Given the description of an element on the screen output the (x, y) to click on. 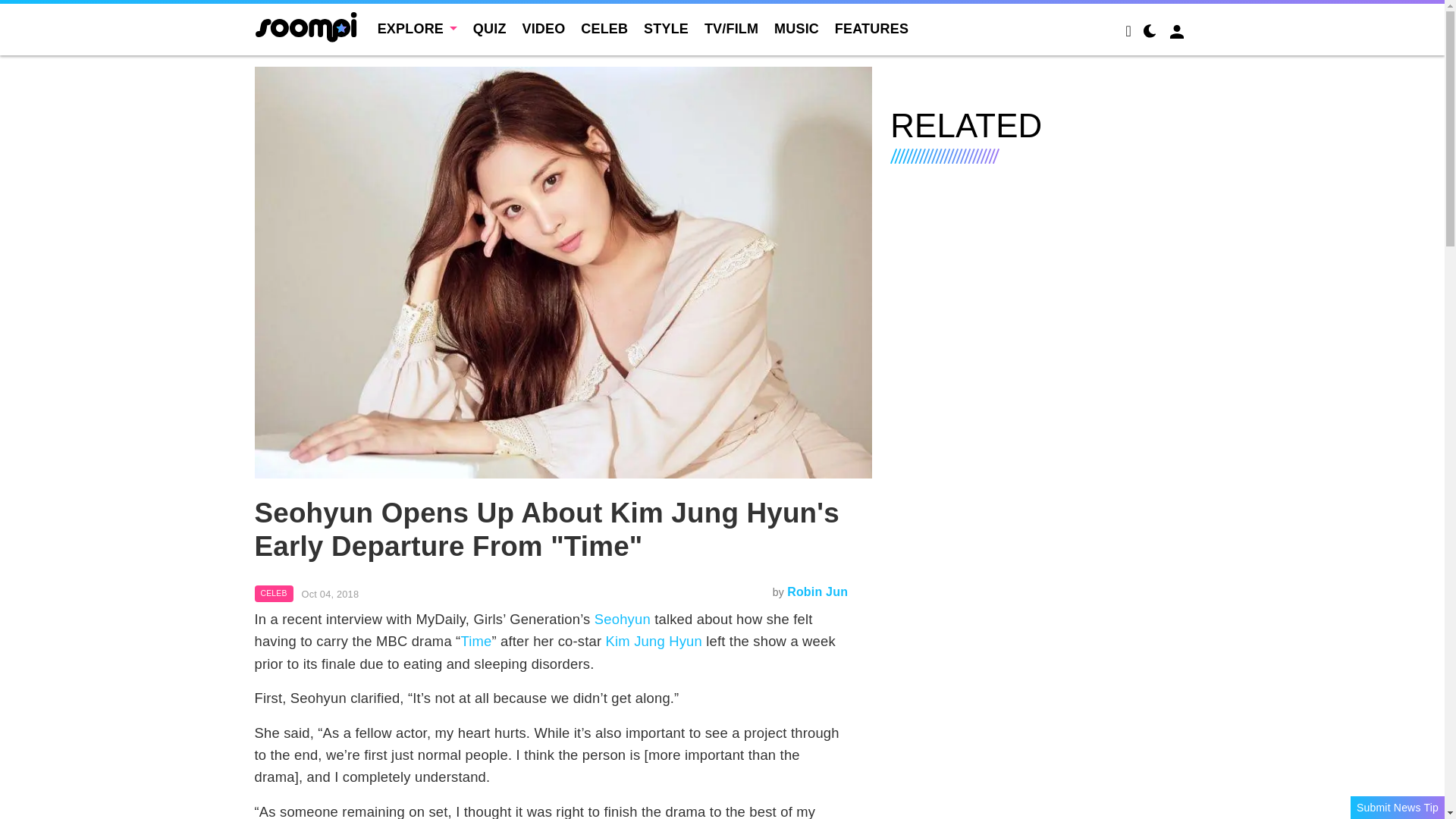
CELEB (603, 28)
MUSIC (796, 28)
Kim Jung Hyun (653, 641)
EXPLORE (417, 28)
Robin Jun (817, 591)
Night Mode Toggle (1149, 33)
Seohyun (622, 618)
STYLE (665, 28)
Celeb (274, 593)
Articles by Robin Jun (817, 591)
